Given the description of an element on the screen output the (x, y) to click on. 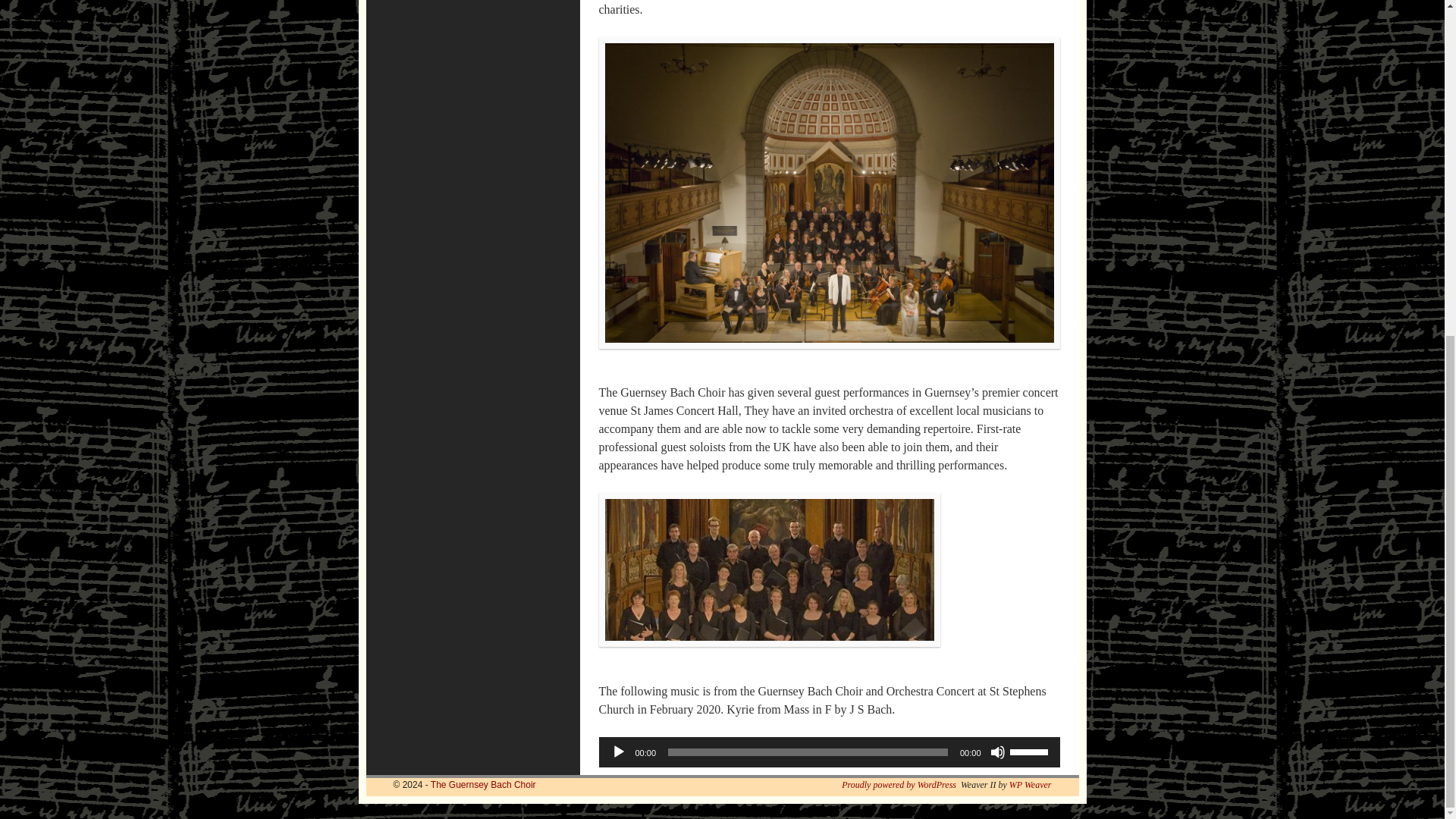
wordpress.org (898, 784)
Proudly powered by WordPress (898, 784)
The Guernsey Bach Choir (482, 784)
The Guernsey Bach Choir (482, 784)
Mute (998, 752)
WP Weaver (1030, 784)
Play (618, 752)
